Given the description of an element on the screen output the (x, y) to click on. 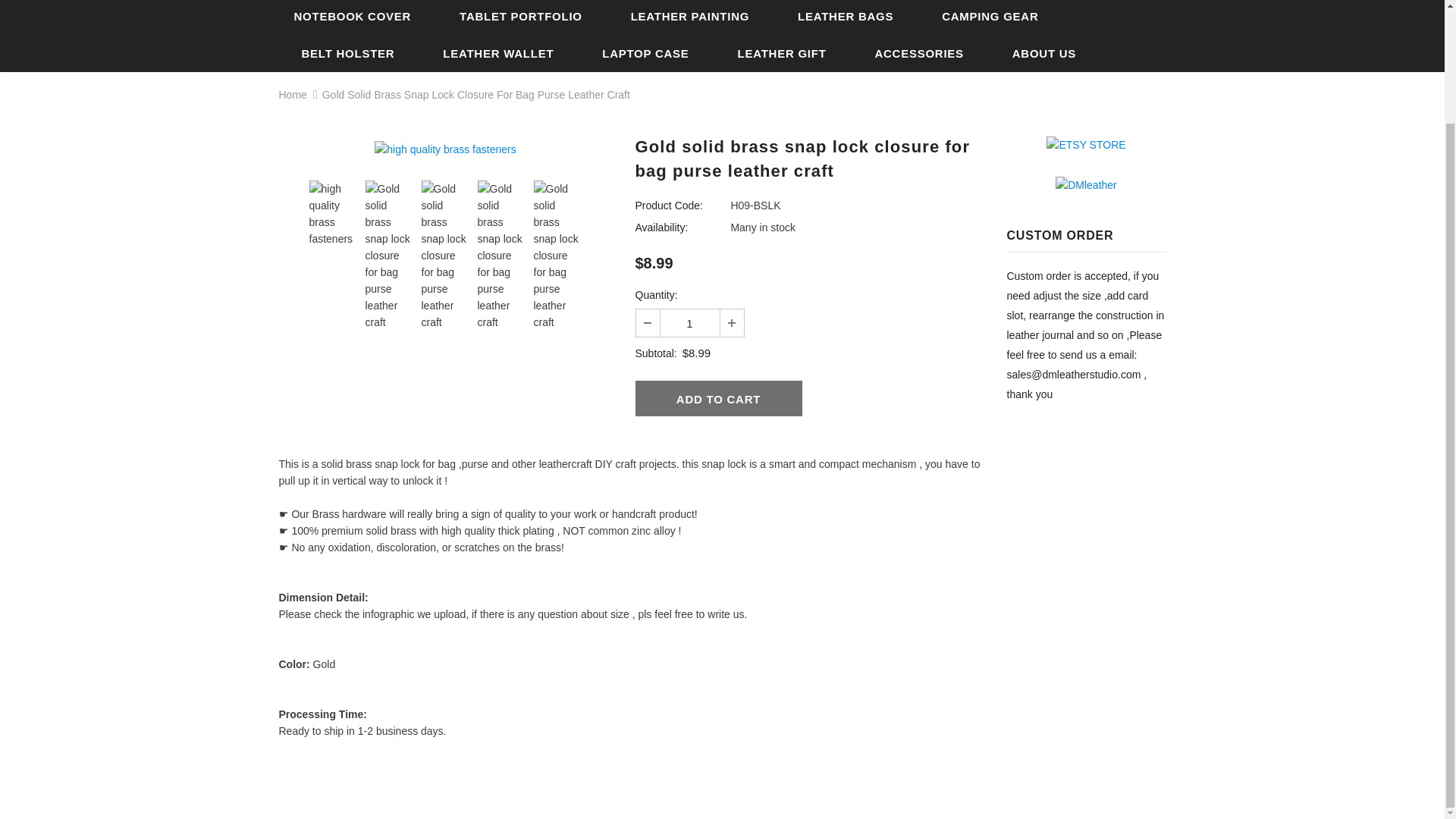
1 (689, 321)
Add to Cart (718, 397)
NOTEBOOK COVER (352, 17)
